Given the description of an element on the screen output the (x, y) to click on. 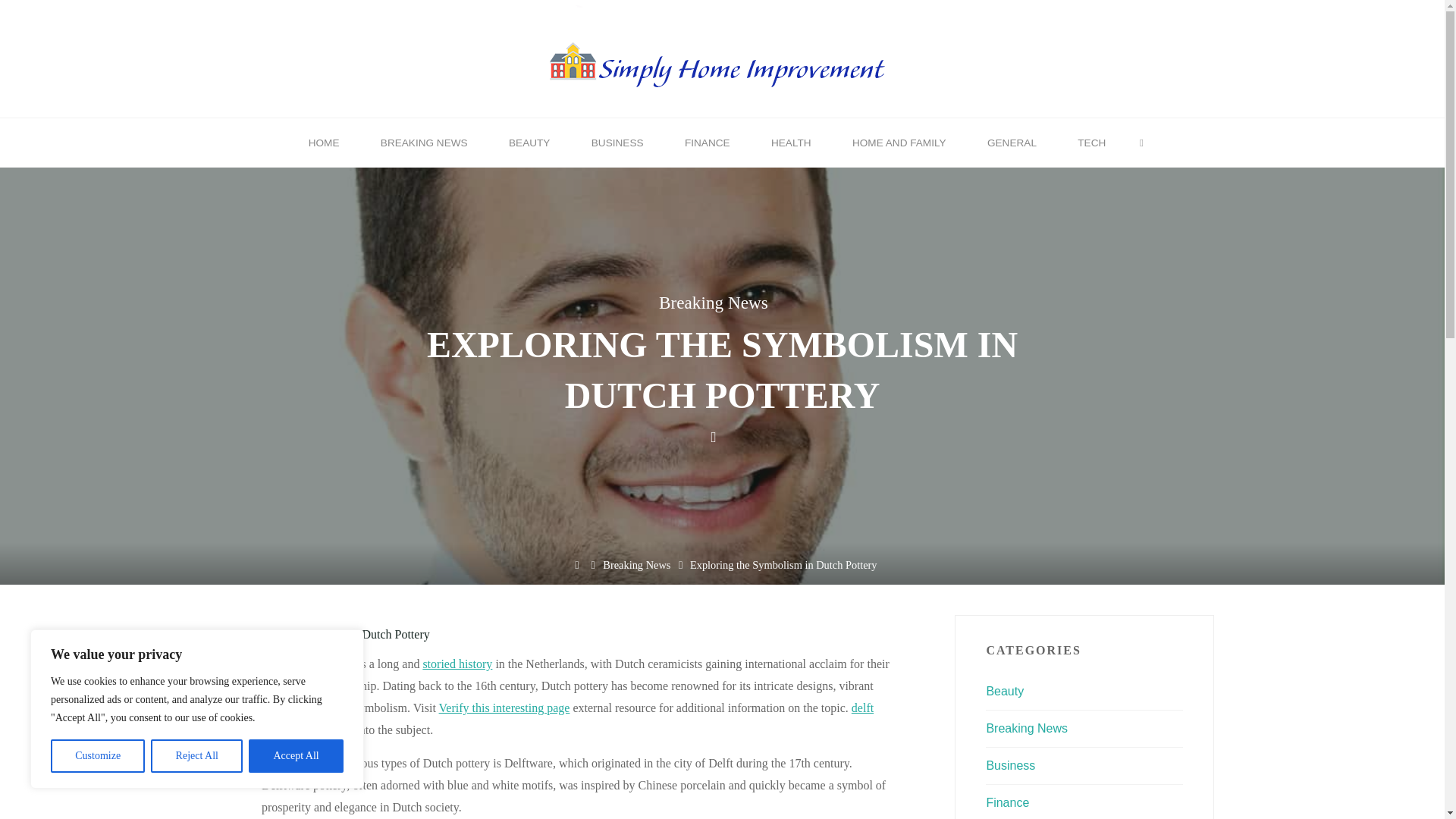
HOME (323, 142)
Reject All (197, 756)
Date (713, 437)
BEAUTY (528, 142)
HOME AND FAMILY (898, 142)
BUSINESS (616, 142)
Simply Home Improvement (721, 56)
Home (576, 564)
GENERAL (1011, 142)
HEALTH (791, 142)
